Given the description of an element on the screen output the (x, y) to click on. 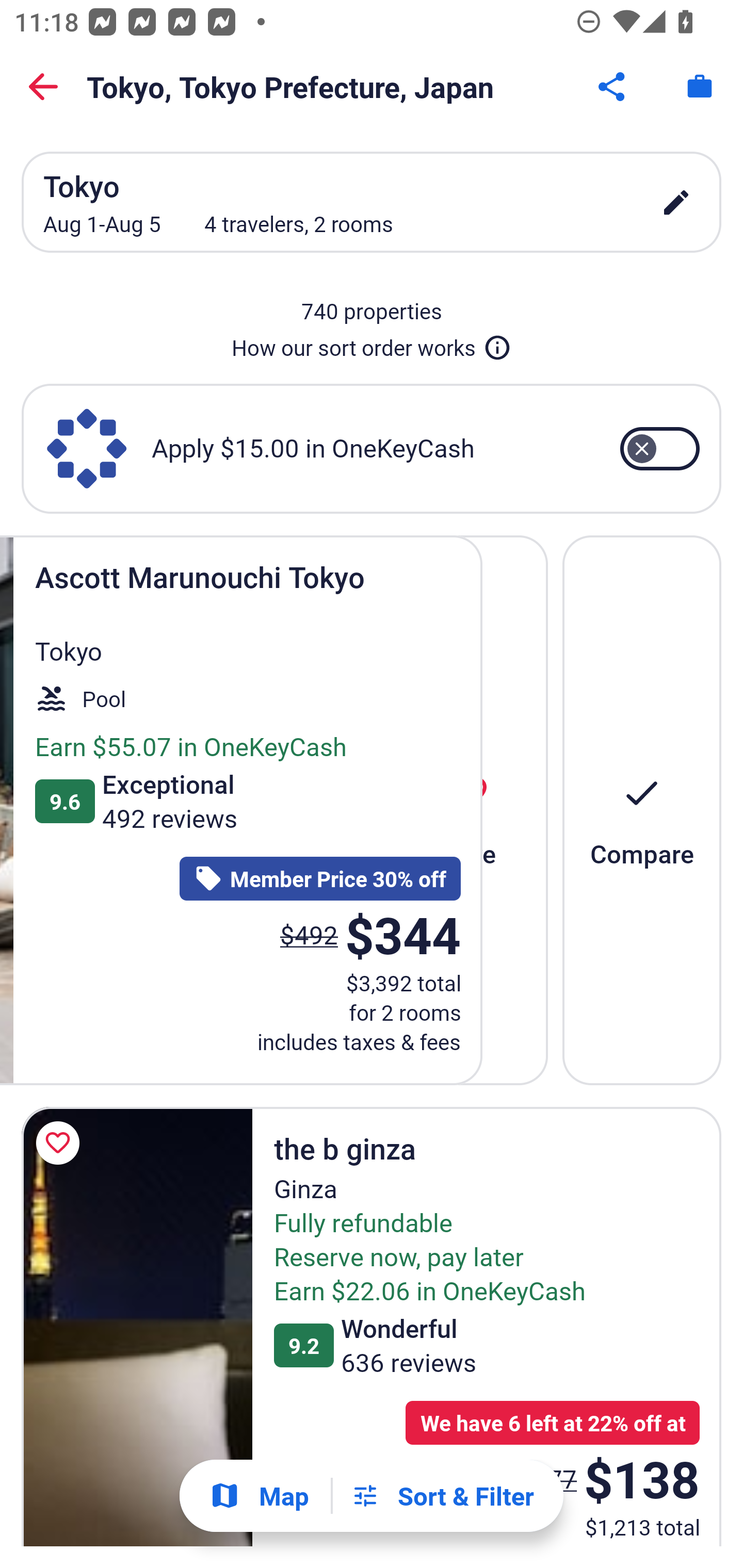
Back (43, 86)
Share Button (612, 86)
Trips. Button (699, 86)
Tokyo Aug 1-Aug 5 4 travelers, 2 rooms edit (371, 202)
How our sort order works (371, 344)
Compare (641, 809)
$492 The price was $492 (308, 934)
Save the b ginza to a trip (61, 1142)
the b ginza (136, 1326)
Filters Sort & Filter Filters Button (442, 1495)
Show map Map Show map Button (258, 1495)
